Given the description of an element on the screen output the (x, y) to click on. 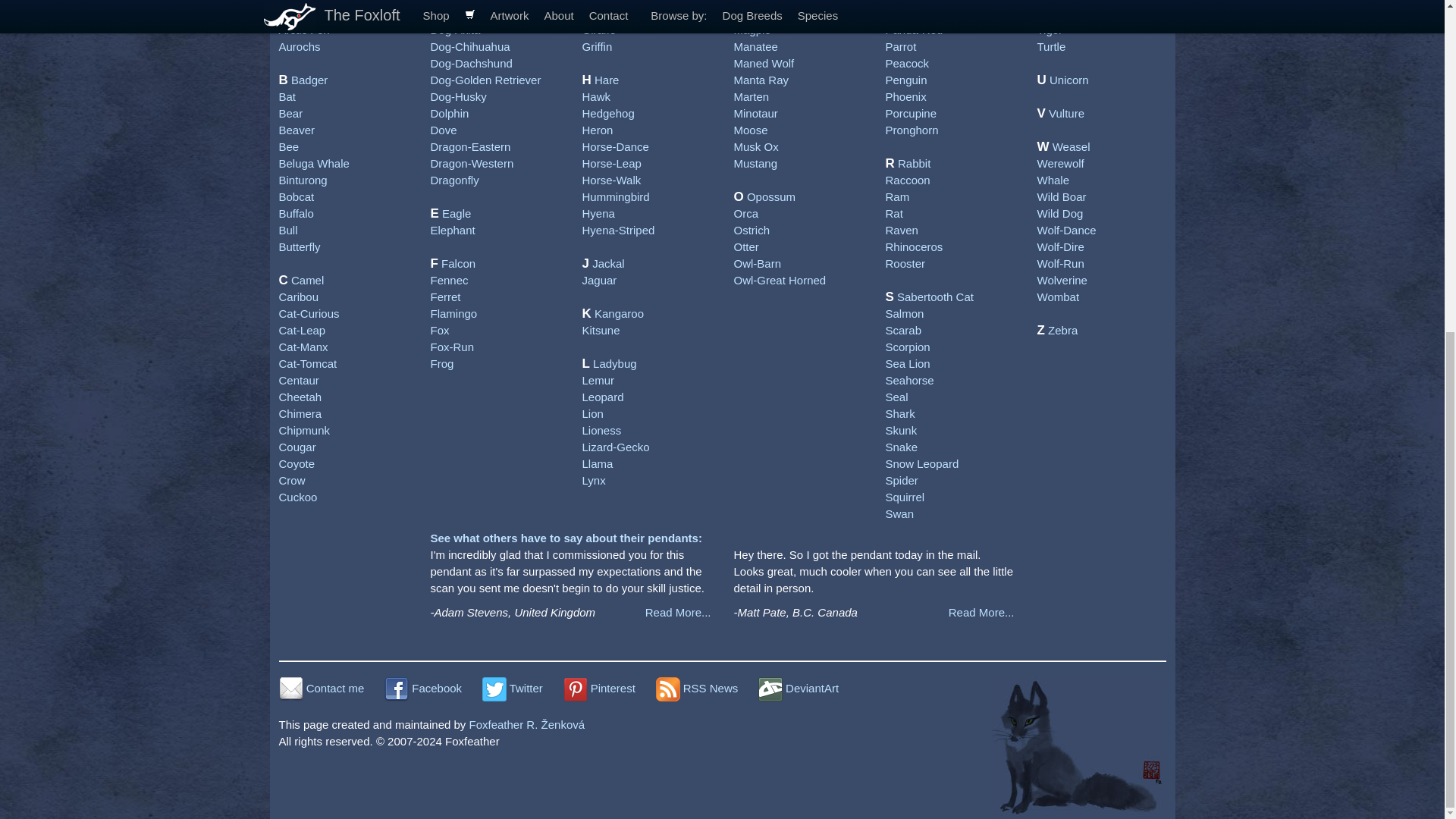
Beaver (297, 129)
Bear (290, 113)
Bee (289, 146)
Aurochs (299, 46)
Alligator (310, 12)
Badger (309, 79)
Arctic Fox (304, 29)
Bat (288, 96)
